Given the description of an element on the screen output the (x, y) to click on. 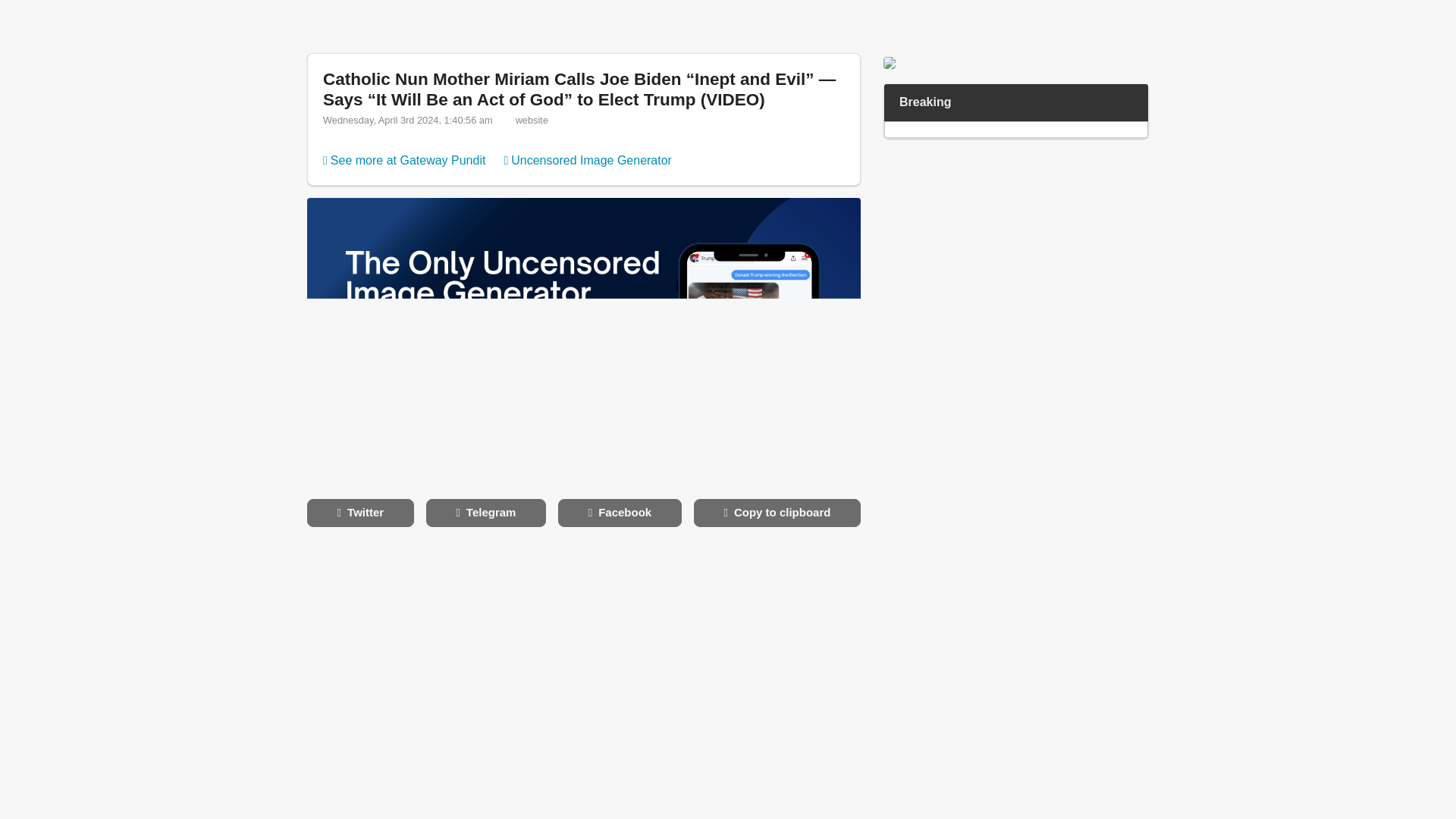
Share to Facebook (619, 512)
Visit page (403, 160)
Share to Clipboard (777, 512)
Visit page (579, 88)
Uncensored Image Generator (587, 160)
Share to Twitter (360, 512)
Telegram (486, 512)
Twitter (360, 512)
Facebook (619, 512)
Share to Telegram (486, 512)
